Given the description of an element on the screen output the (x, y) to click on. 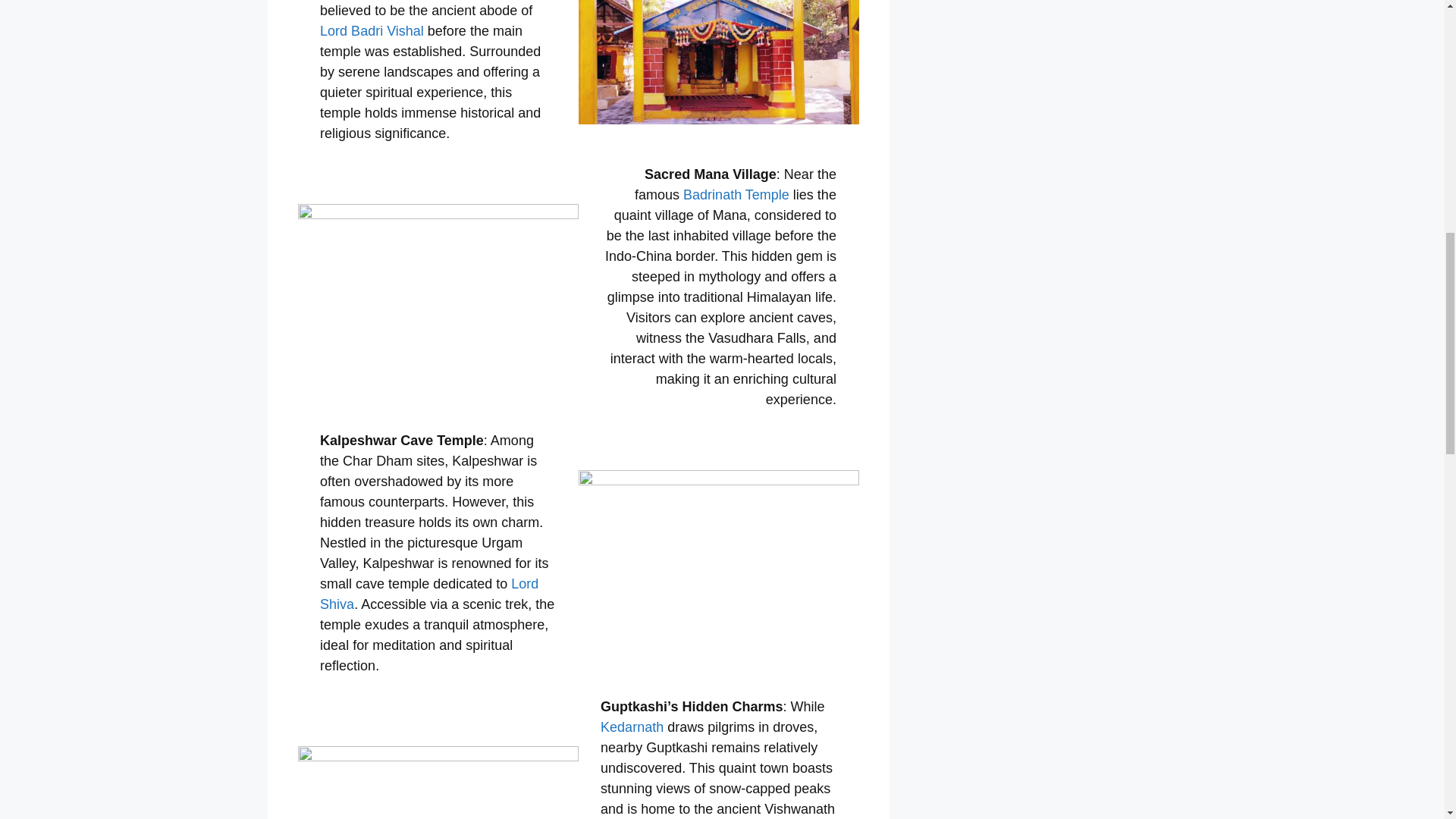
Lord Badri Vishal (371, 30)
Lord Shiva (429, 593)
Kedarnath (631, 726)
Badrinath Temple (735, 194)
